Given the description of an element on the screen output the (x, y) to click on. 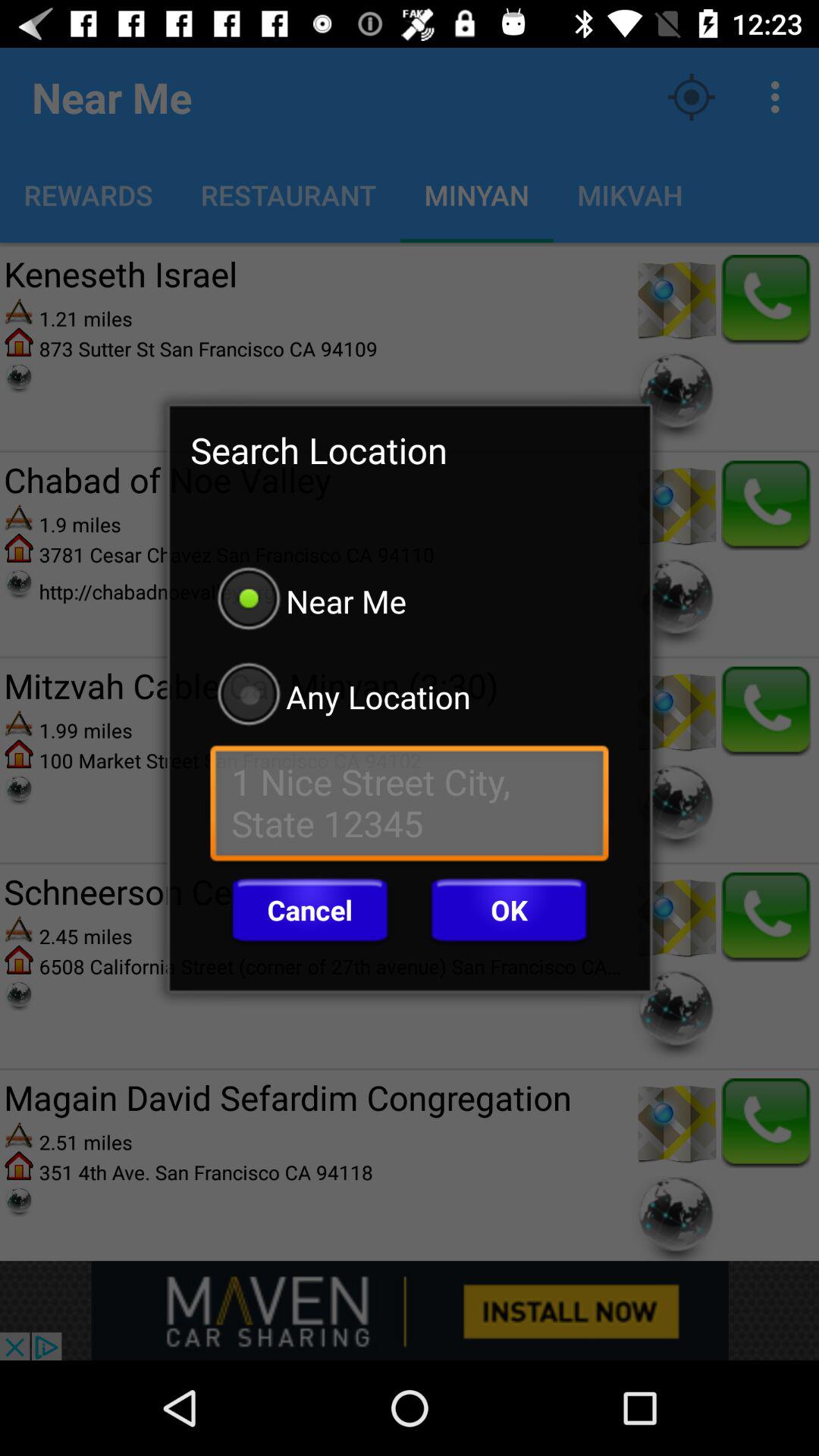
tap the icon next to cancel icon (508, 909)
